Given the description of an element on the screen output the (x, y) to click on. 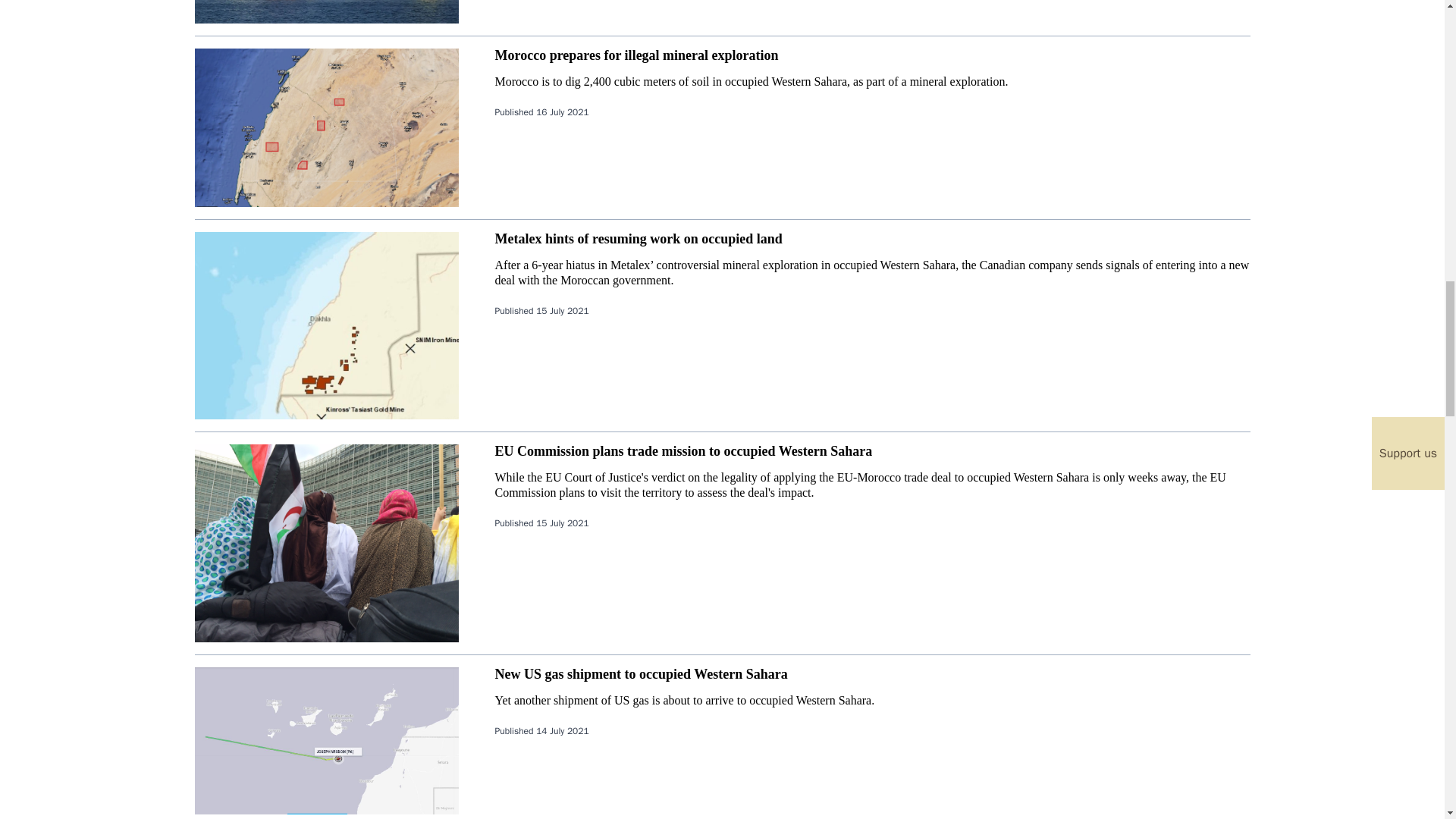
Morocco prepares for illegal mineral exploration (636, 55)
